Given the description of an element on the screen output the (x, y) to click on. 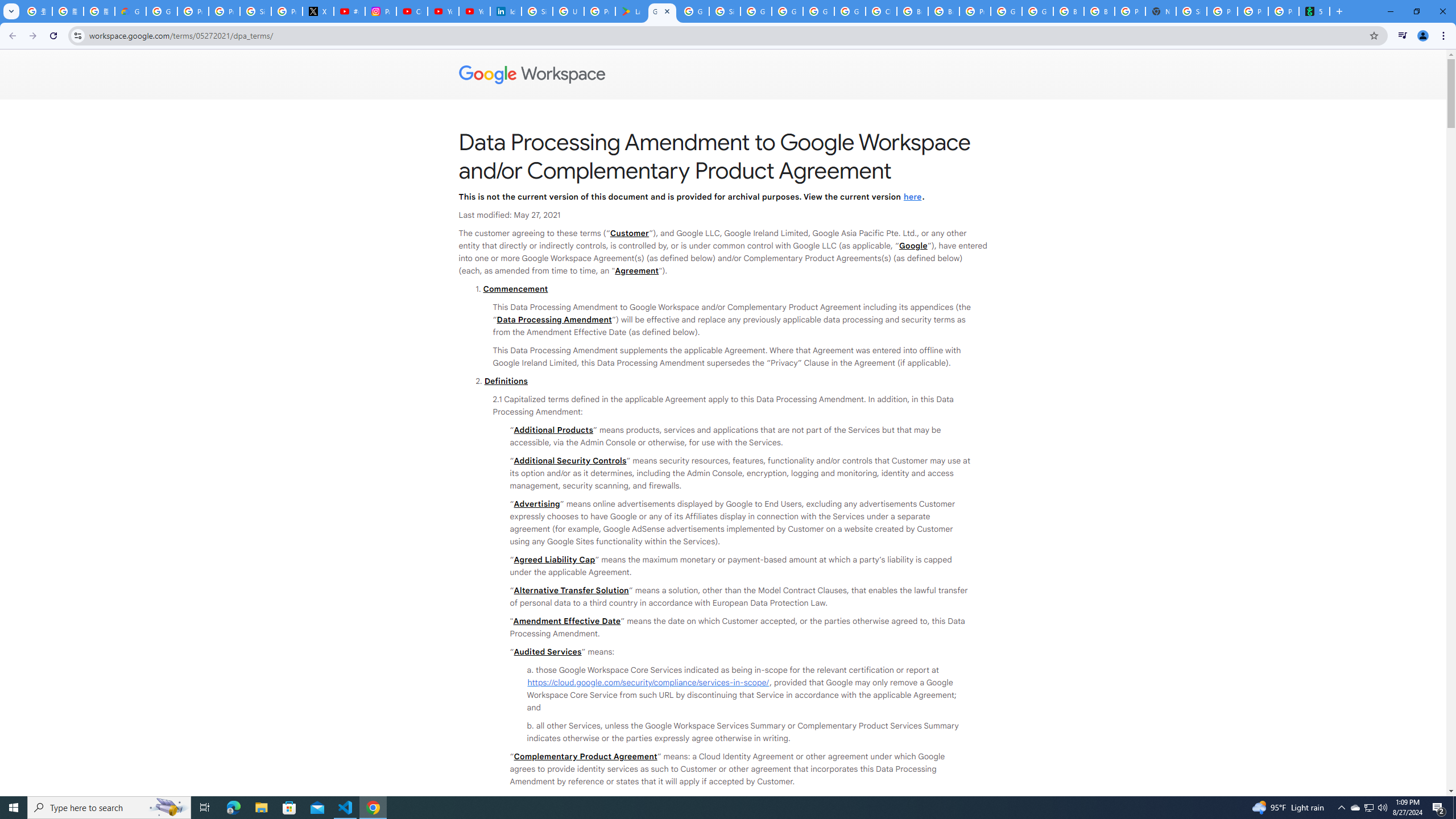
Google Cloud Platform (1005, 11)
Control your music, videos, and more (1402, 35)
Google Workspace (723, 74)
Browse Chrome as a guest - Computer - Google Chrome Help (912, 11)
Google Cloud Privacy Notice (130, 11)
Google Workspace - Specific Terms (693, 11)
Sign in - Google Accounts (255, 11)
